Given the description of an element on the screen output the (x, y) to click on. 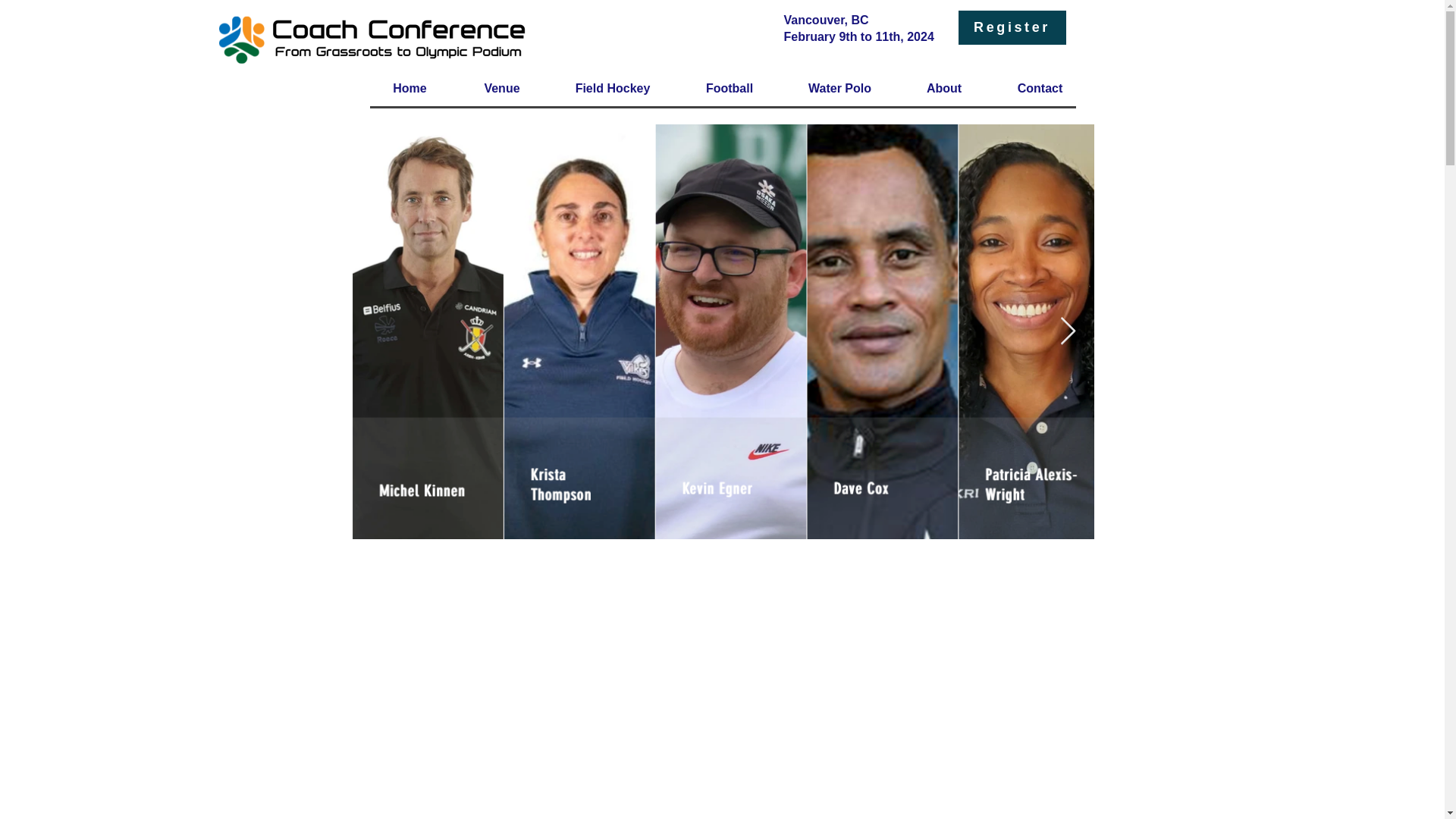
Venue (502, 88)
Water Polo (839, 88)
Register (1011, 27)
Field Hockey (612, 88)
Home (410, 88)
Contact (1040, 88)
About (944, 88)
Football (729, 88)
